Given the description of an element on the screen output the (x, y) to click on. 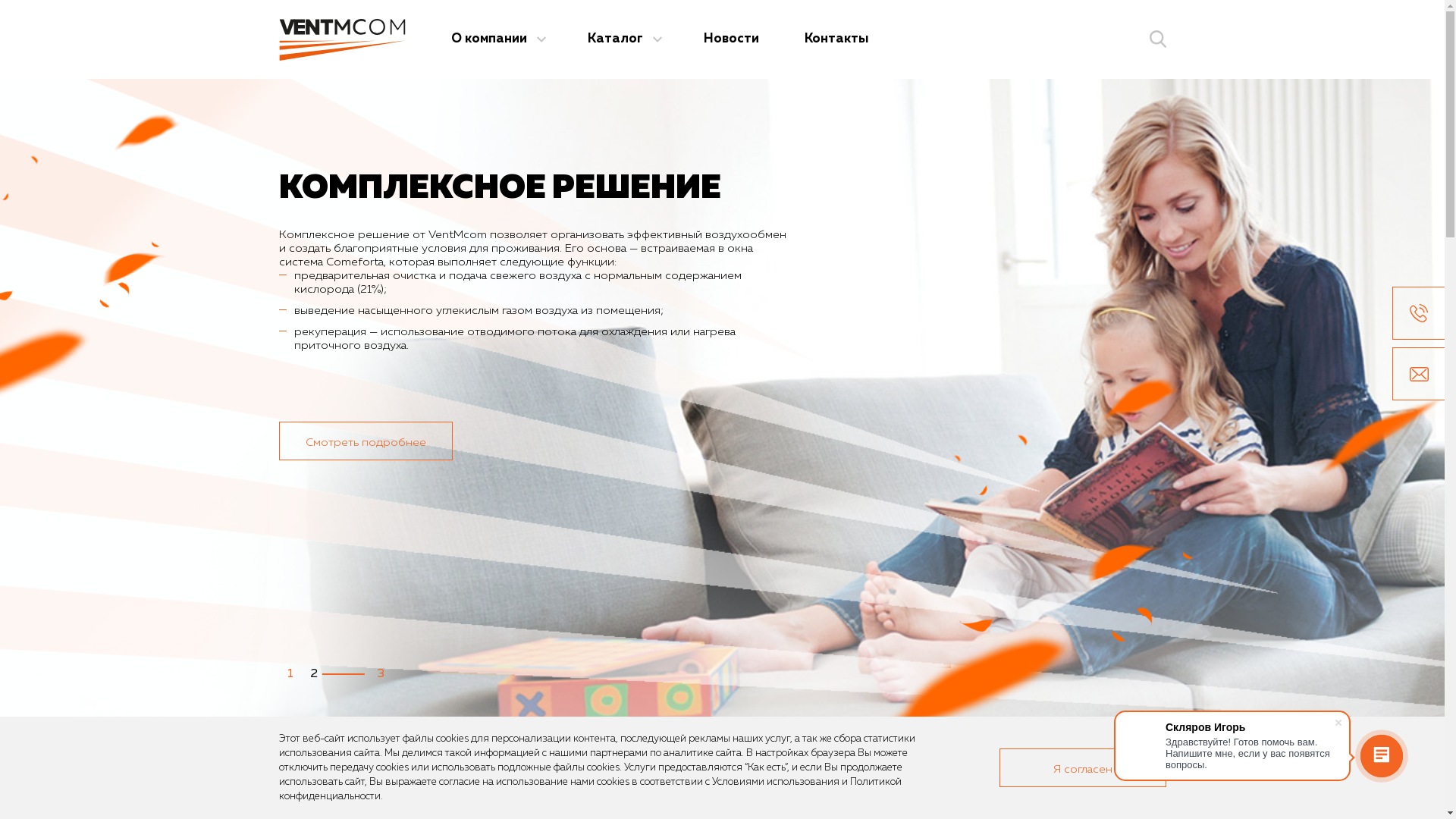
ventmcom.ru Element type: hover (342, 39)
